Given the description of an element on the screen output the (x, y) to click on. 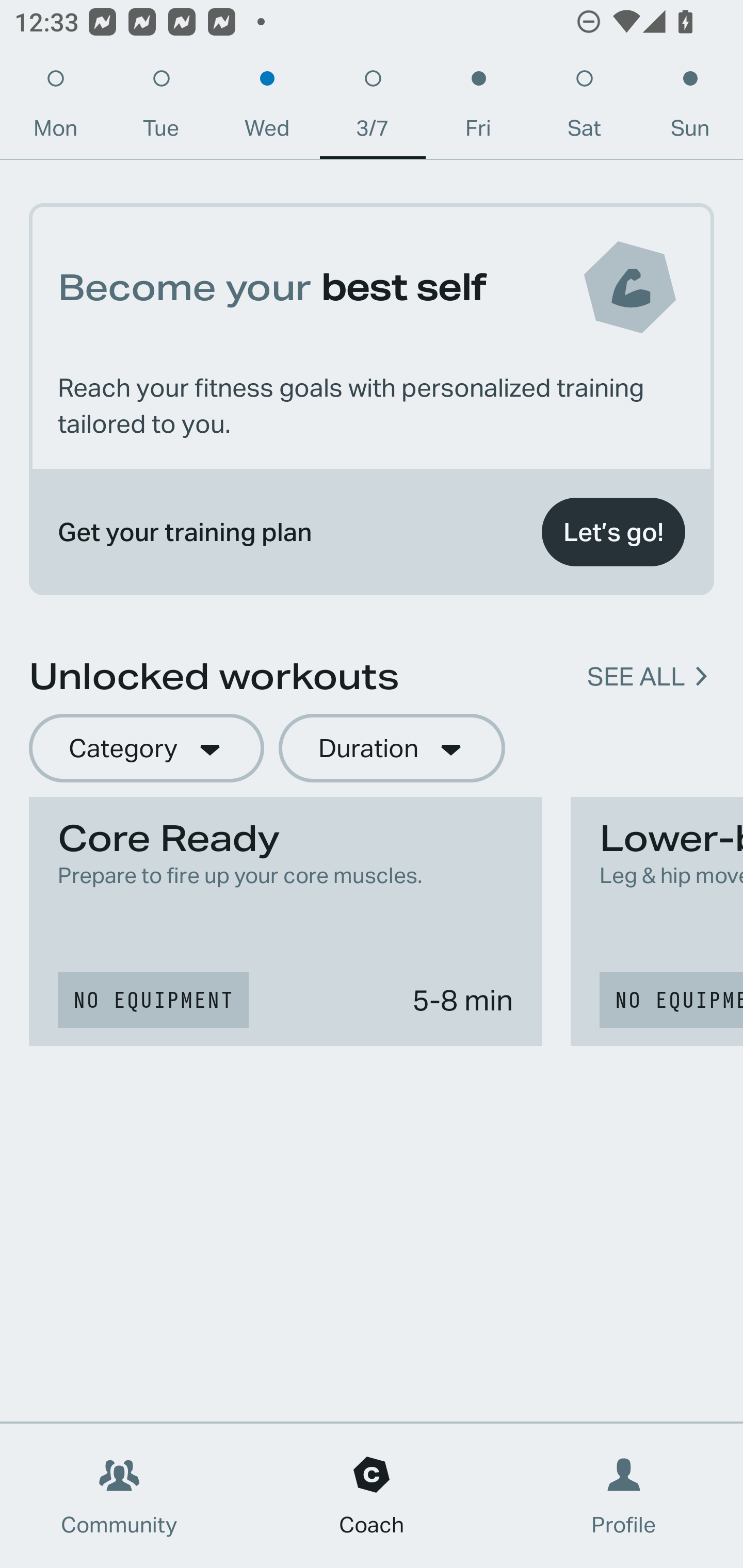
Mon (55, 108)
Tue (160, 108)
Wed (266, 108)
3/7 (372, 108)
Fri (478, 108)
Sat (584, 108)
Sun (690, 108)
Let’s go! (613, 532)
SEE ALL (635, 676)
Category (146, 748)
Duration (391, 748)
Community (119, 1495)
Profile (624, 1495)
